Given the description of an element on the screen output the (x, y) to click on. 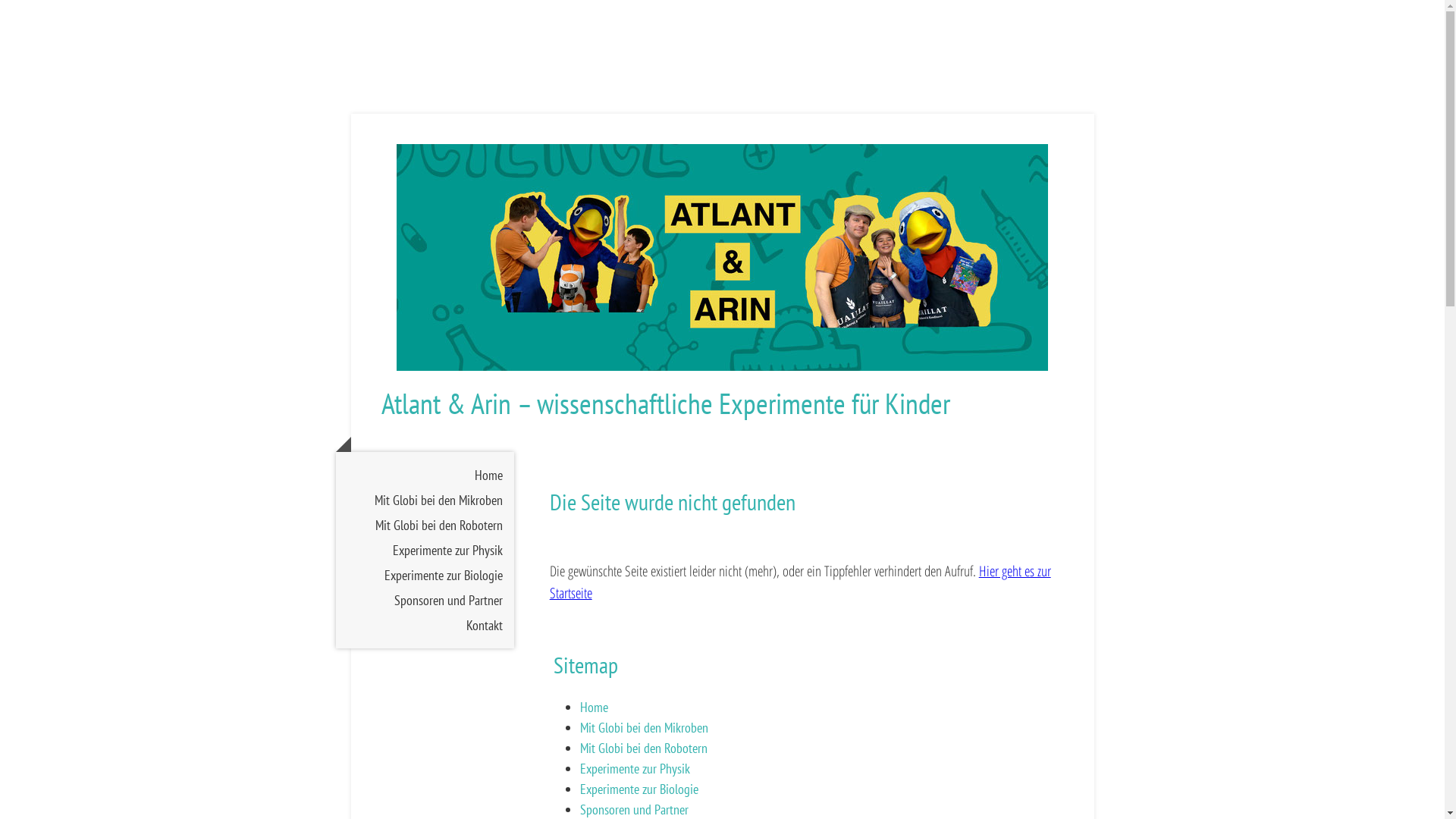
Experimente zur Biologie Element type: text (639, 788)
Sponsoren und Partner Element type: text (634, 809)
Sponsoren und Partner Element type: text (424, 599)
Hier geht es zur Startseite Element type: text (800, 581)
Kontakt Element type: text (424, 624)
Experimente zur Biologie Element type: text (424, 574)
Mit Globi bei den Robotern Element type: text (424, 524)
Mit Globi bei den Mikroben Element type: text (644, 727)
Experimente zur Physik Element type: text (424, 549)
Home Element type: text (424, 474)
Home Element type: text (594, 706)
Mit Globi bei den Mikroben Element type: text (424, 499)
Experimente zur Physik Element type: text (635, 768)
Mit Globi bei den Robotern Element type: text (643, 747)
